Given the description of an element on the screen output the (x, y) to click on. 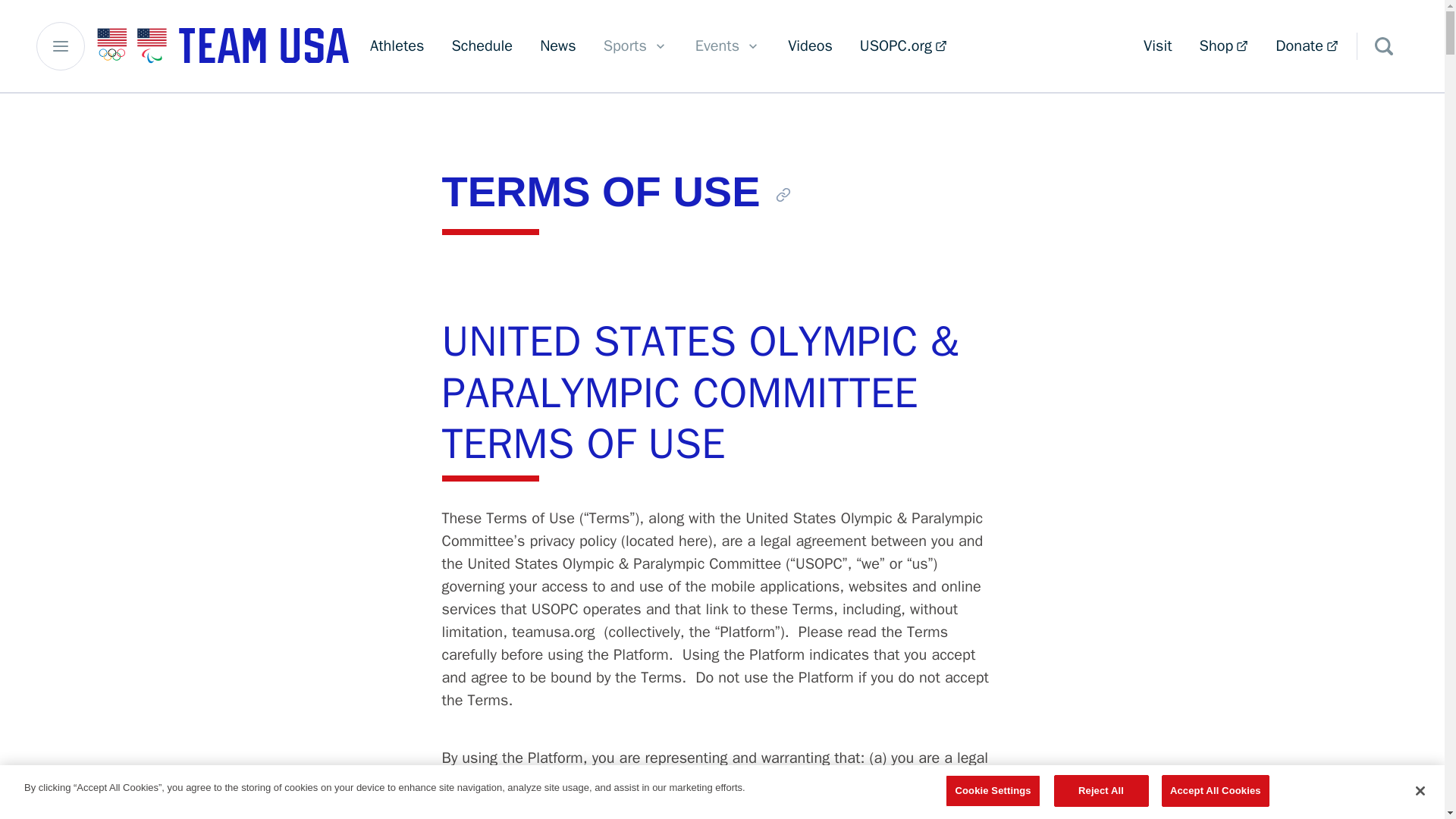
News (1224, 46)
Sports (558, 46)
Schedule (635, 46)
Videos (481, 46)
Copy link to Terms Of Use to clipboard (809, 46)
Events (783, 194)
Visit (727, 46)
Athletes (1157, 46)
